Given the description of an element on the screen output the (x, y) to click on. 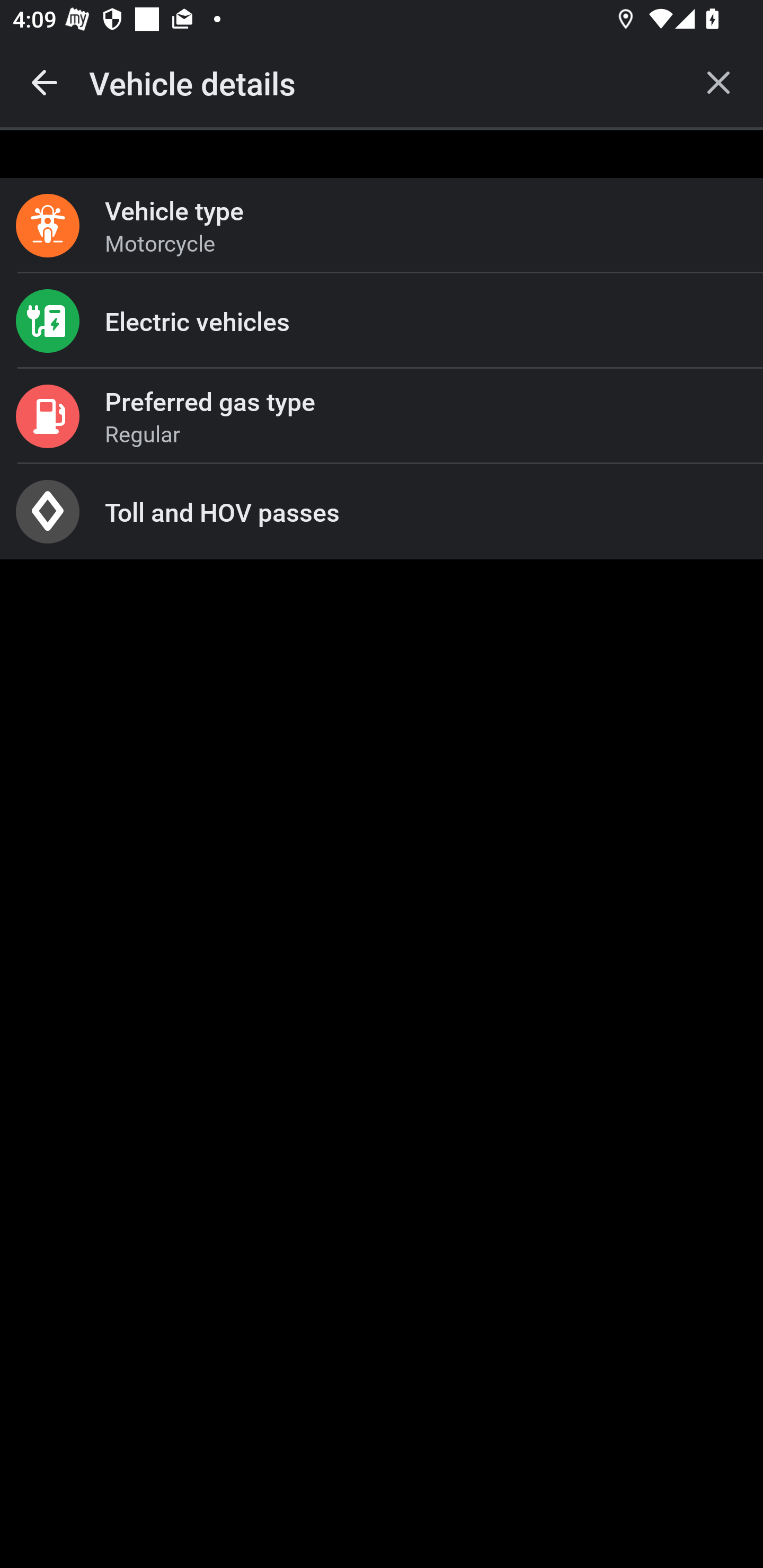
Vehicle type Motorcycle (381, 225)
Electric vehicles (381, 320)
Preferred gas type Regular (381, 416)
Toll and HOV passes (381, 511)
